Given the description of an element on the screen output the (x, y) to click on. 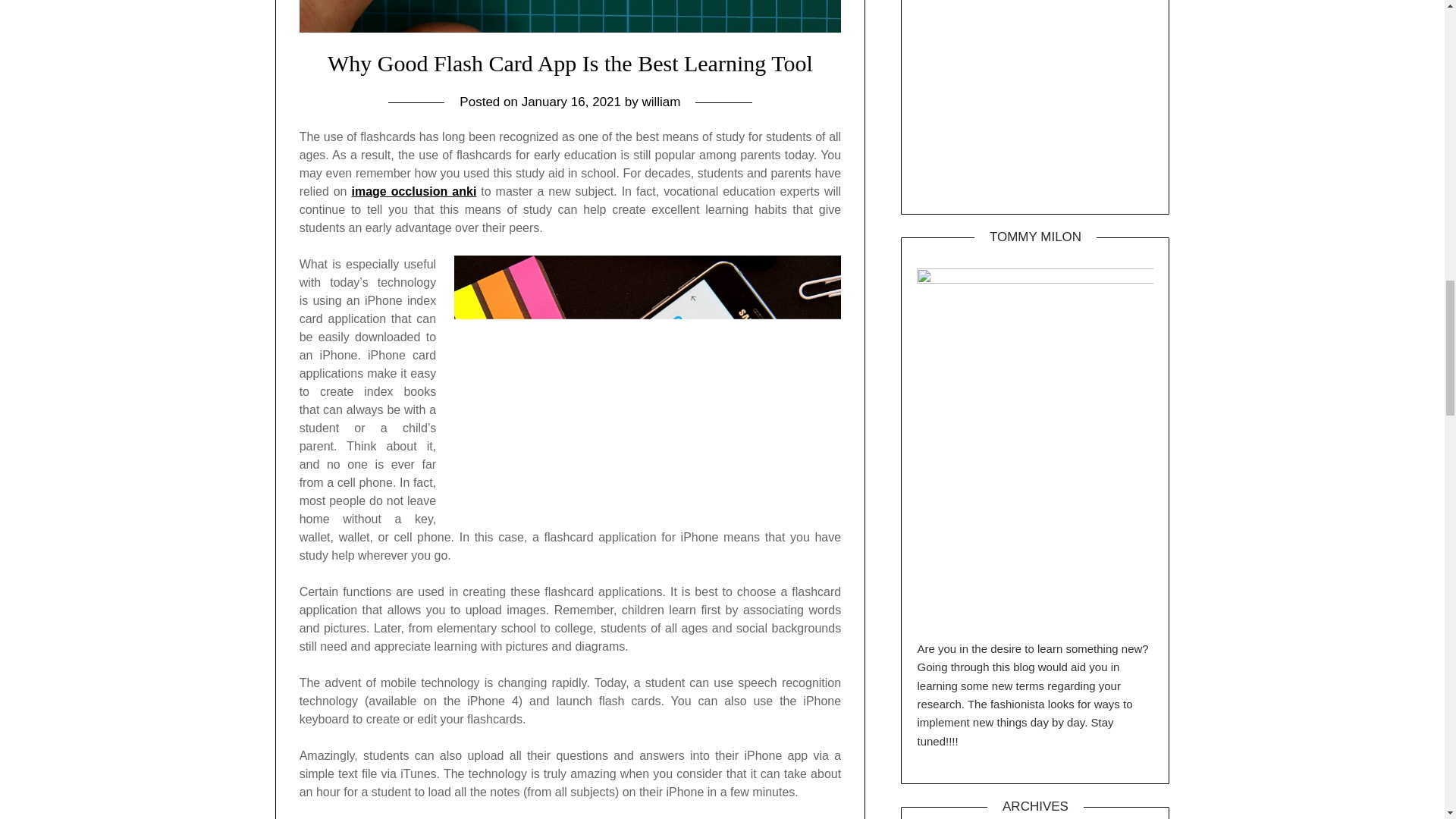
Why Good Flash Card App Is the Best Learning Tool (569, 63)
william (660, 101)
image occlusion anki (413, 191)
January 16, 2021 (571, 101)
